Given the description of an element on the screen output the (x, y) to click on. 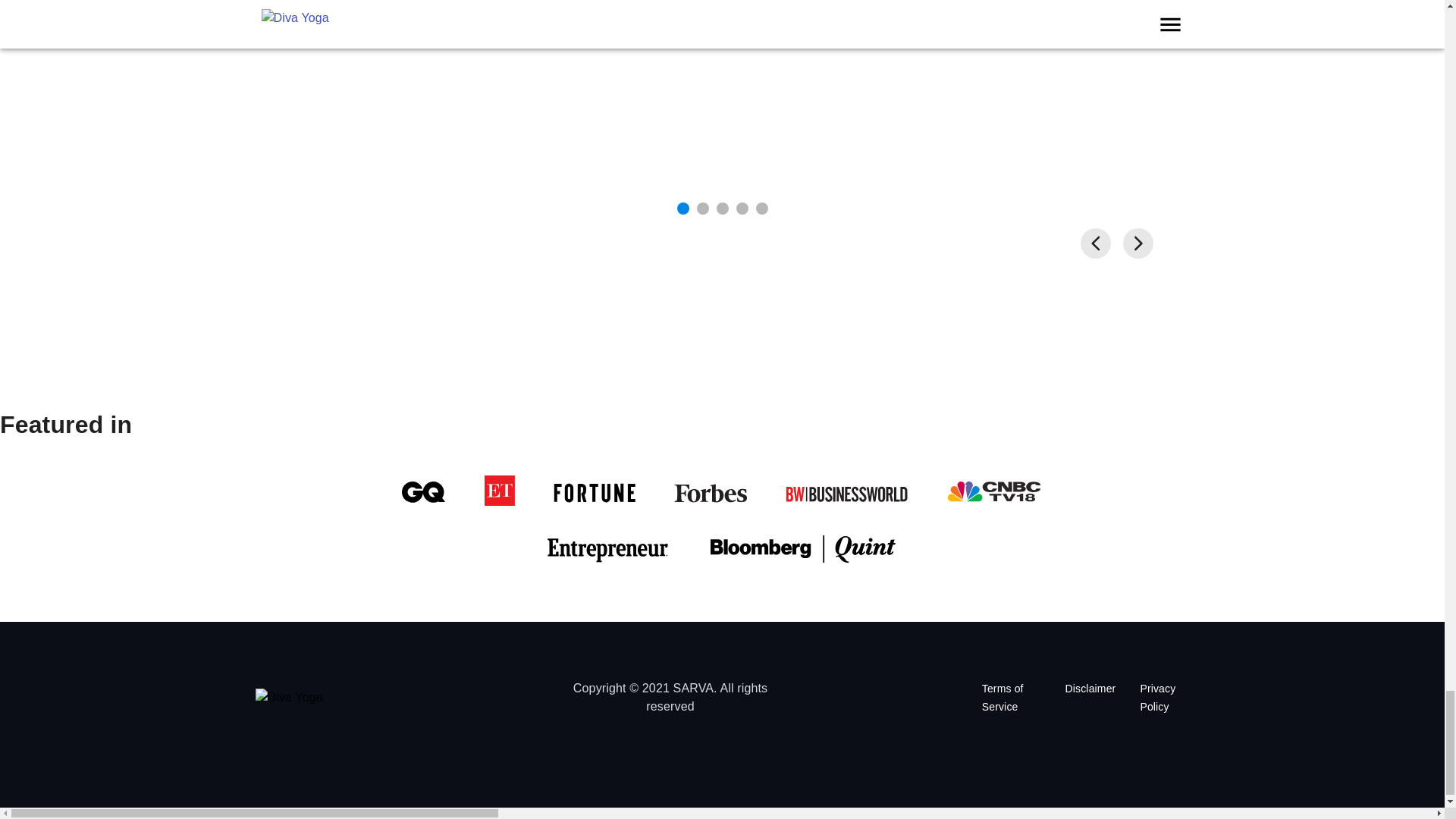
Disclaimer (1090, 697)
Privacy Policy (1164, 697)
Terms of Service (1011, 697)
